Given the description of an element on the screen output the (x, y) to click on. 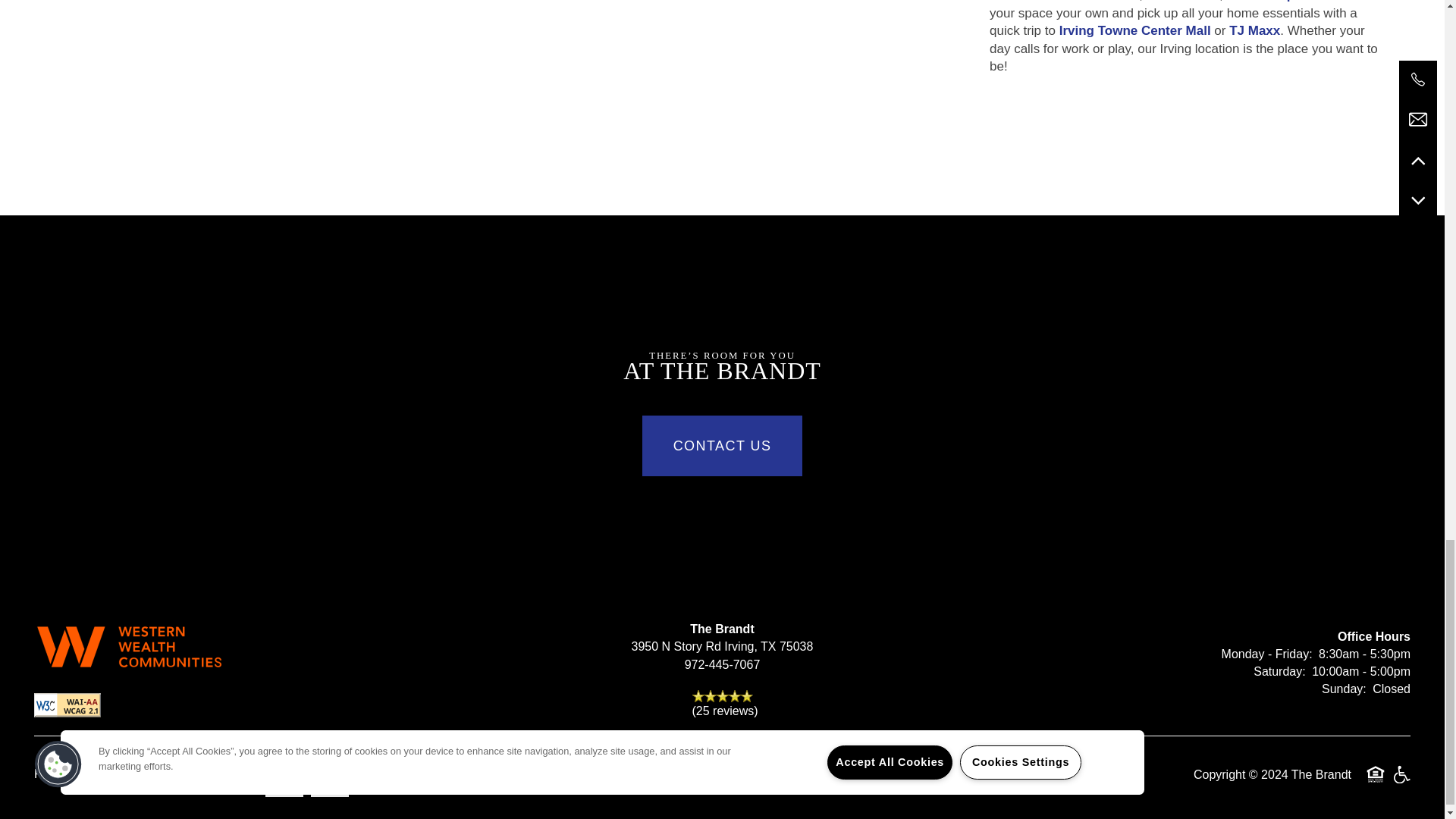
Via Real Restaurant (1077, 1)
3950 N Story Rd Irving, TX 75038 (722, 647)
972-445-7067 (722, 665)
CONTACT US (722, 445)
The Spirit Grille (1300, 1)
TJ Maxx (1253, 30)
Knife Italian (1183, 1)
Google My Business (330, 777)
Facebook (283, 777)
Property Phone Number (722, 665)
Irving Towne Center Mall (1135, 30)
